Given the description of an element on the screen output the (x, y) to click on. 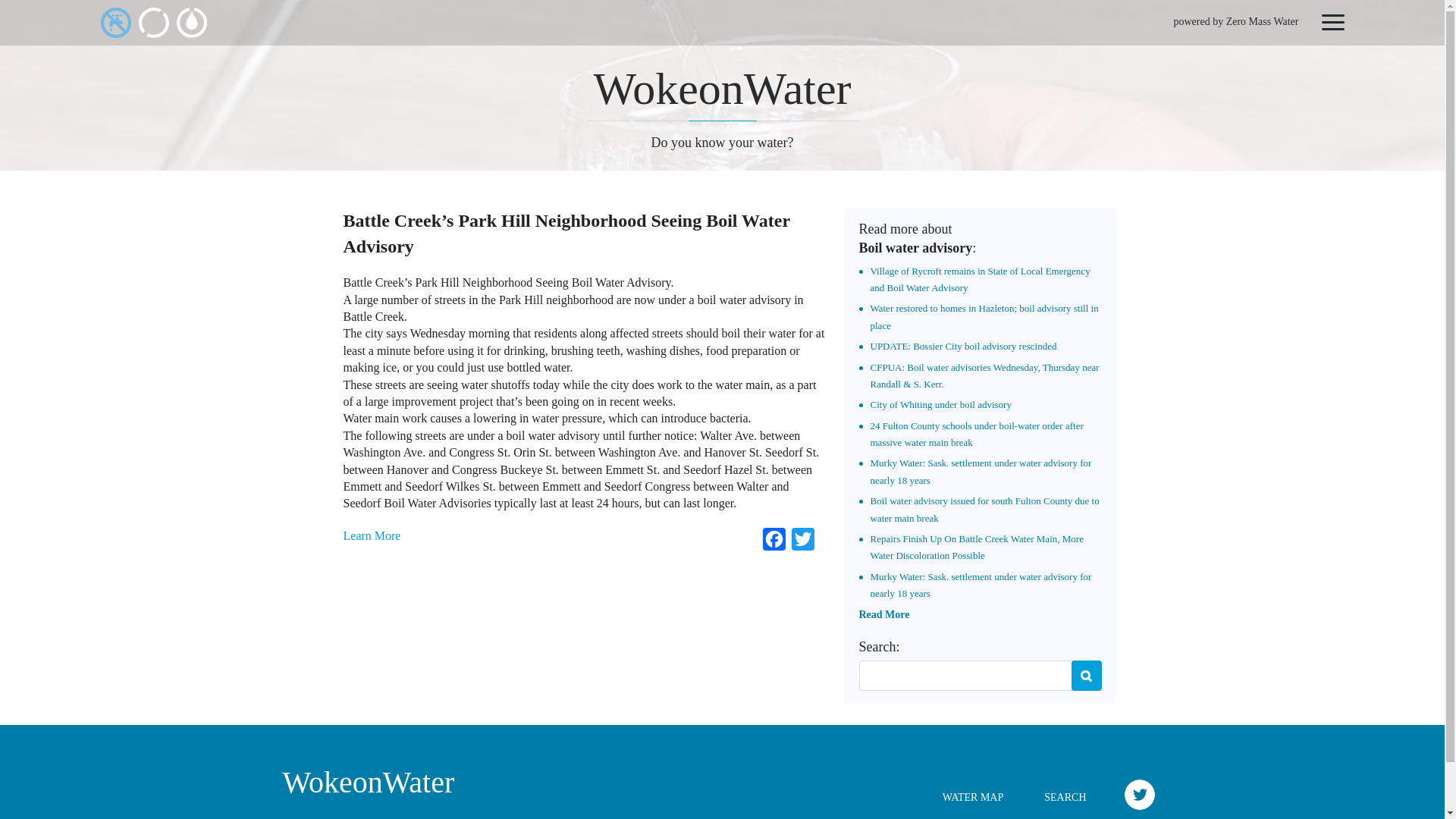
Facebook (774, 542)
Twitter (802, 542)
WATER MAP (973, 797)
UPDATE: Bossier City boil advisory rescinded (963, 346)
City of Whiting under boil advisory (940, 404)
Learn More (371, 535)
Search (1085, 675)
SEARCH (1065, 797)
Read More (883, 614)
Twitter (802, 542)
